Given the description of an element on the screen output the (x, y) to click on. 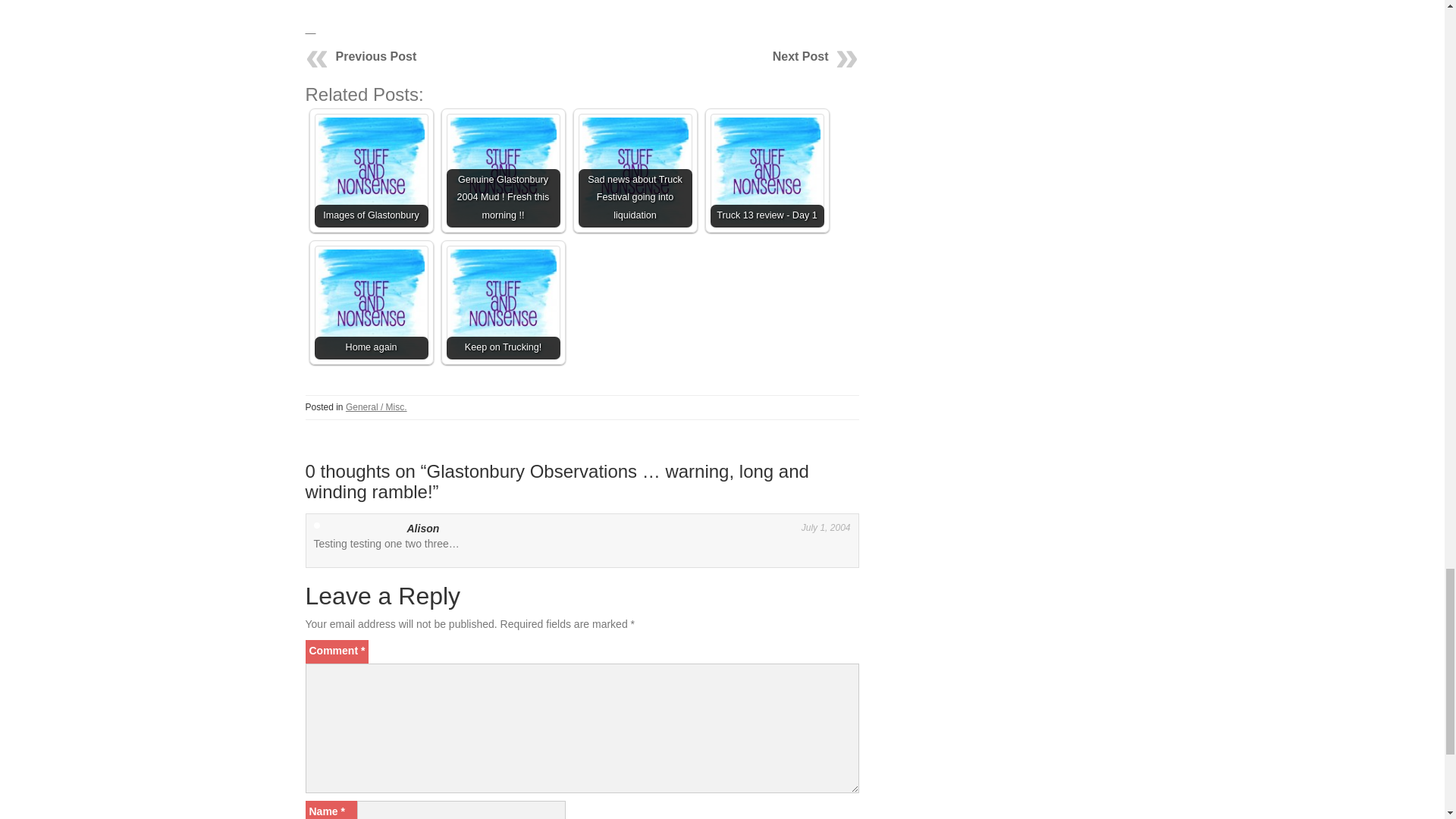
Truck 13 review - Day 1 (767, 170)
Keep on Trucking! (502, 302)
Previous Post (375, 56)
Sad news about Truck Festival going into liquidation (634, 170)
Images of Glastonbury (371, 170)
Home again (371, 302)
Genuine Glastonbury 2004 Mud ! Fresh this morning !! (502, 170)
